Given the description of an element on the screen output the (x, y) to click on. 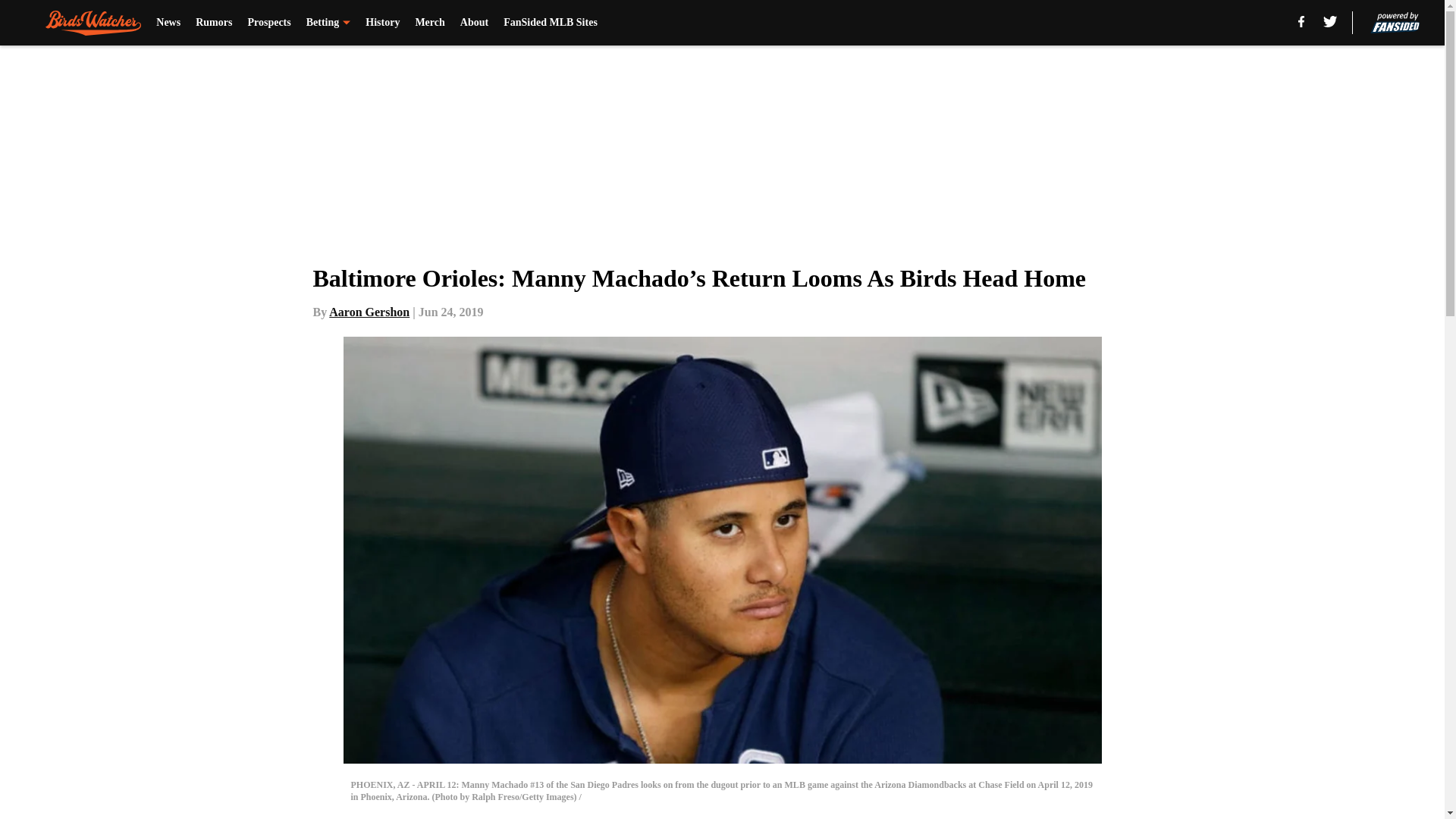
About (473, 22)
FanSided MLB Sites (549, 22)
History (381, 22)
News (167, 22)
Aaron Gershon (369, 311)
Prospects (268, 22)
Rumors (213, 22)
Merch (429, 22)
